Given the description of an element on the screen output the (x, y) to click on. 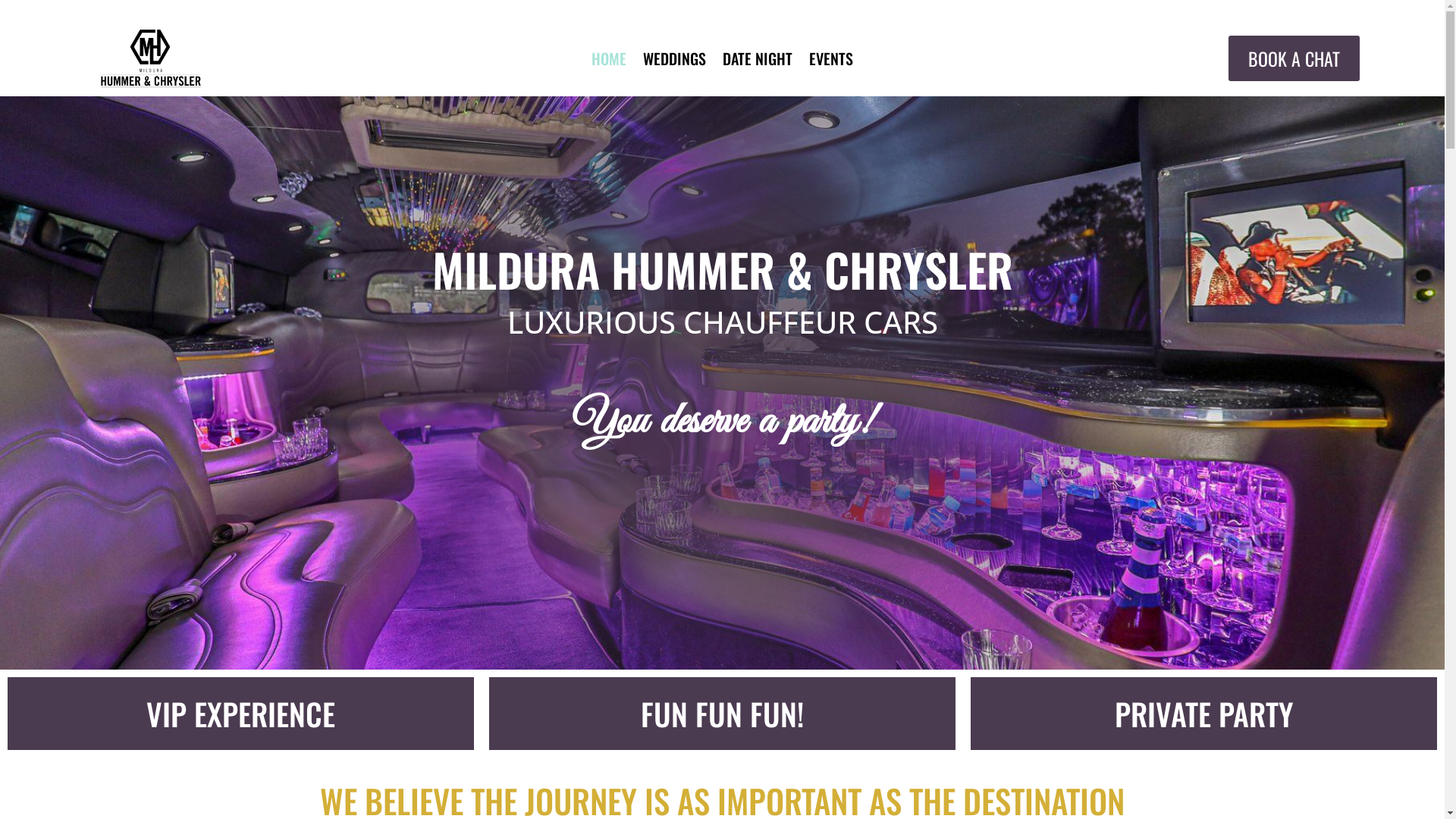
HOME Element type: text (608, 61)
MHC Logo-03 Element type: hover (150, 58)
EVENTS Element type: text (831, 61)
WEDDINGS Element type: text (674, 61)
DATE NIGHT Element type: text (757, 61)
BOOK A CHAT Element type: text (1293, 57)
